Given the description of an element on the screen output the (x, y) to click on. 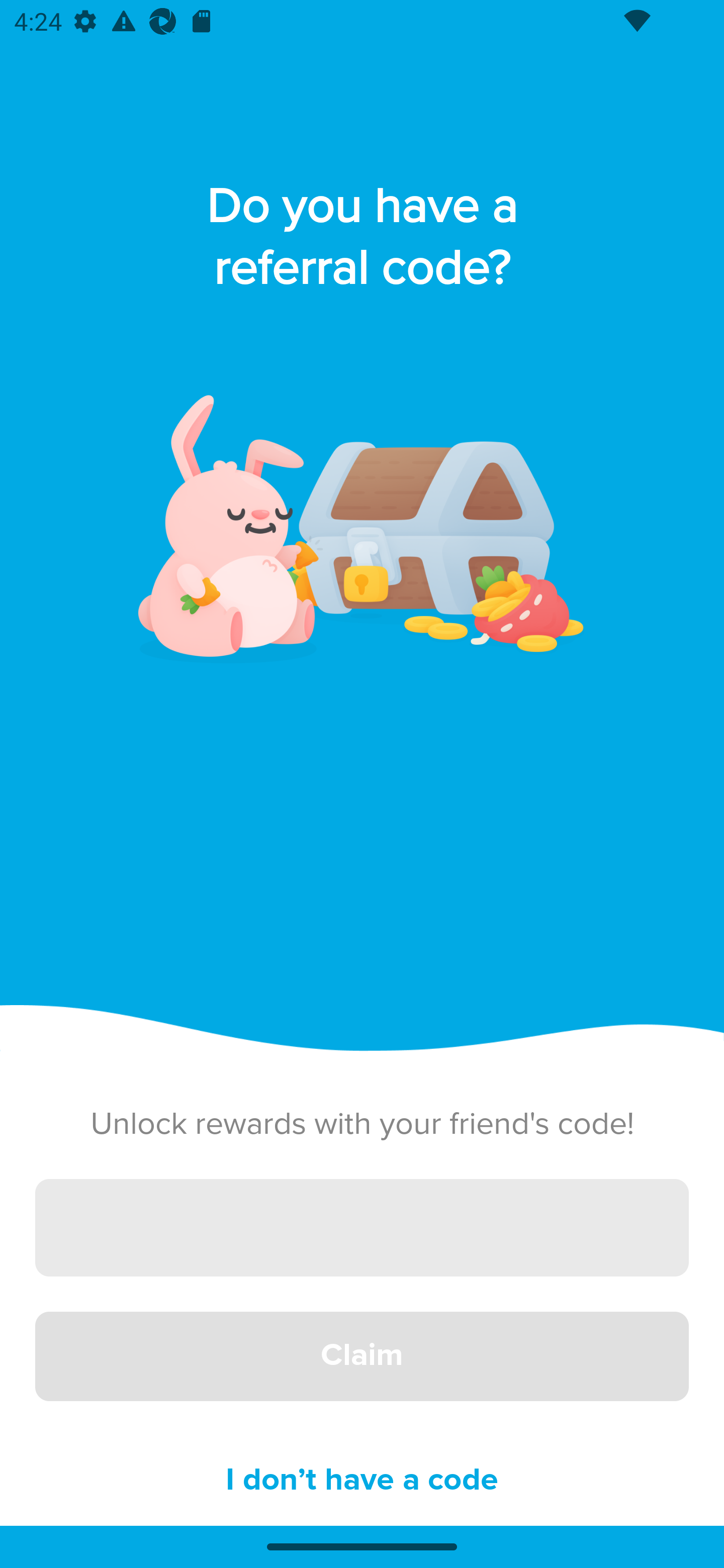
Paste your code here (361, 1227)
‍Claim (361, 1356)
‍I don’t have a code (361, 1480)
